Given the description of an element on the screen output the (x, y) to click on. 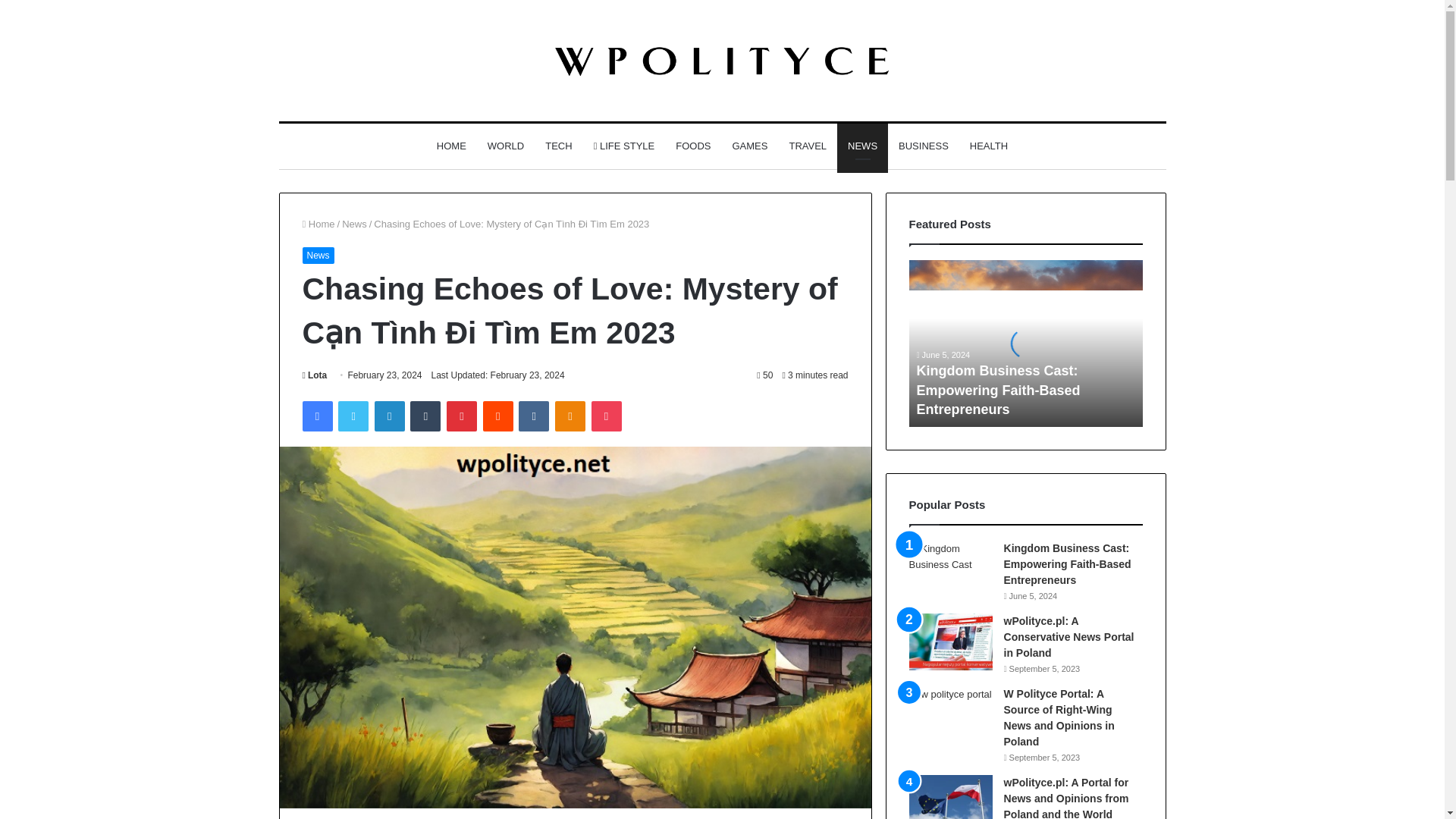
Twitter (352, 416)
Odnoklassniki (569, 416)
Pinterest (461, 416)
TRAVEL (807, 145)
Tumblr (425, 416)
HEALTH (988, 145)
HOME (451, 145)
Pocket (606, 416)
Odnoklassniki (569, 416)
VKontakte (533, 416)
Home (317, 224)
Reddit (498, 416)
Pinterest (461, 416)
Tumblr (425, 416)
WORLD (505, 145)
